Given the description of an element on the screen output the (x, y) to click on. 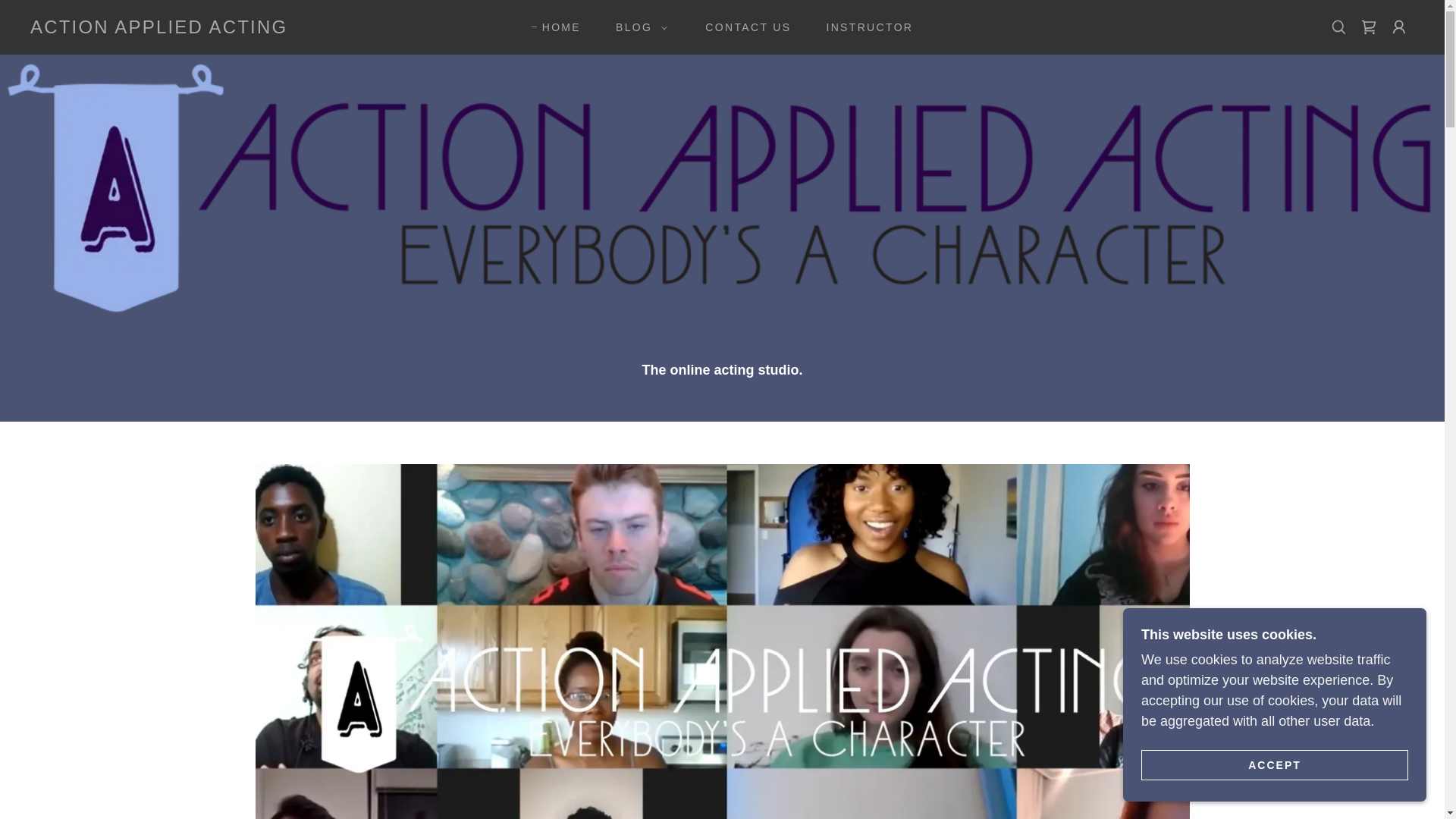
BLOG (637, 27)
CONTACT US (742, 26)
HOME (555, 27)
INSTRUCTOR (863, 26)
Action Applied Acting (158, 28)
ACTION APPLIED ACTING (158, 28)
